Given the description of an element on the screen output the (x, y) to click on. 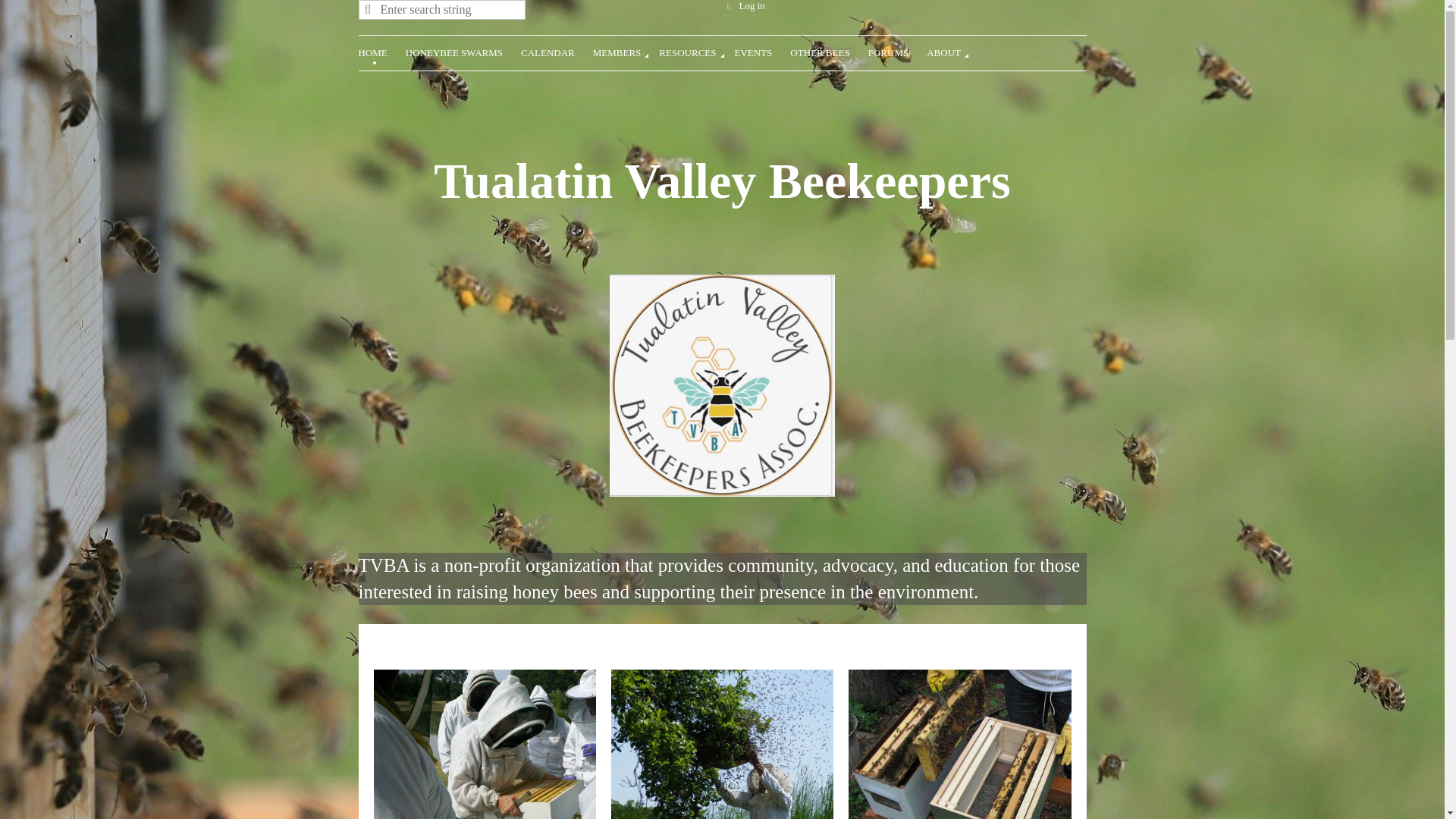
FORUMS (896, 51)
HOME (381, 51)
OTHER BEES (828, 51)
Log in (743, 6)
CALENDAR (556, 51)
ABOUT (952, 51)
MEMBERS (625, 51)
HONEYBEE SWARMS (463, 51)
EVENTS (761, 51)
RESOURCES (696, 51)
